Given the description of an element on the screen output the (x, y) to click on. 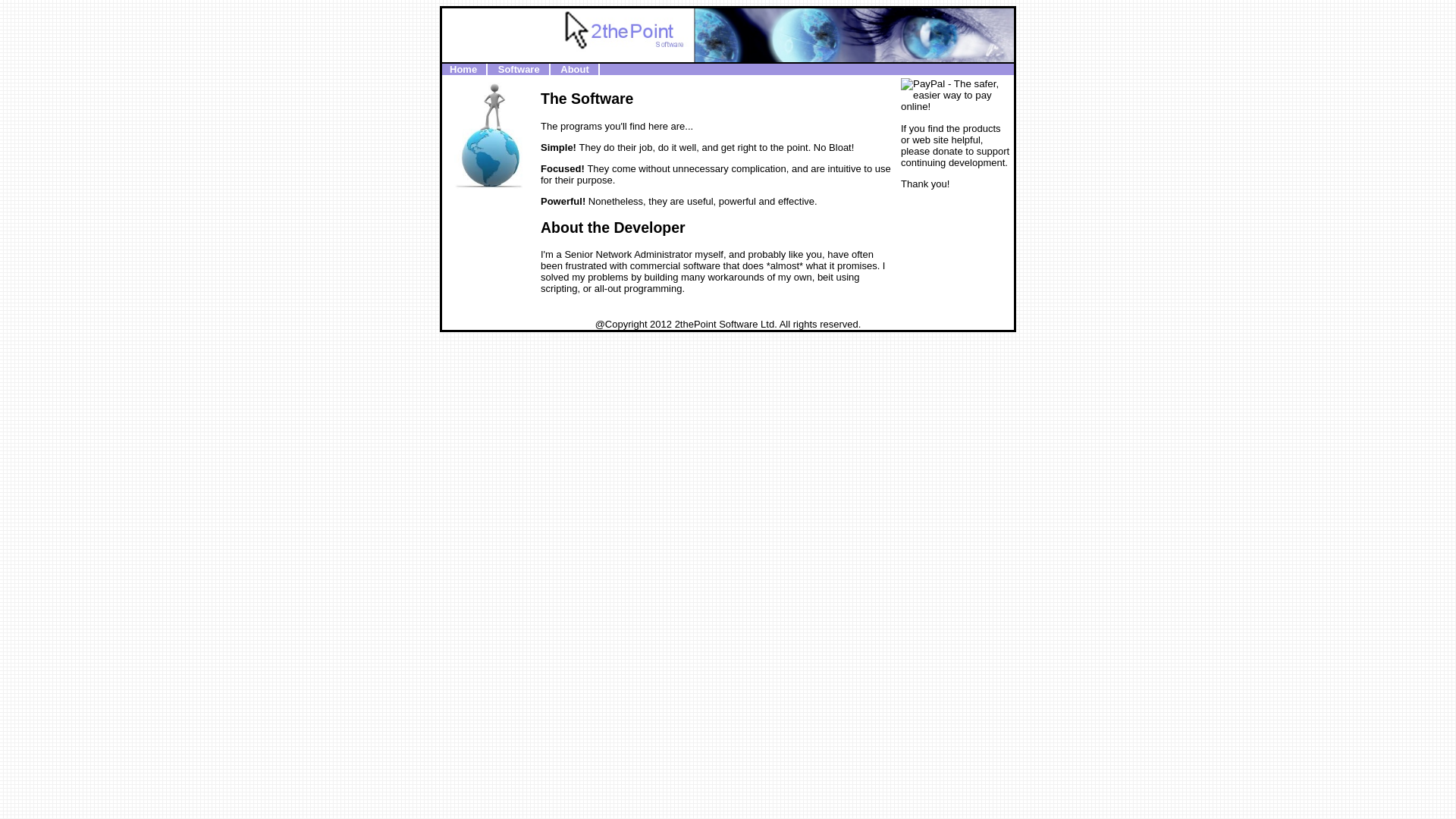
Home Element type: text (462, 69)
About Element type: text (574, 69)
Software Element type: text (518, 69)
